Given the description of an element on the screen output the (x, y) to click on. 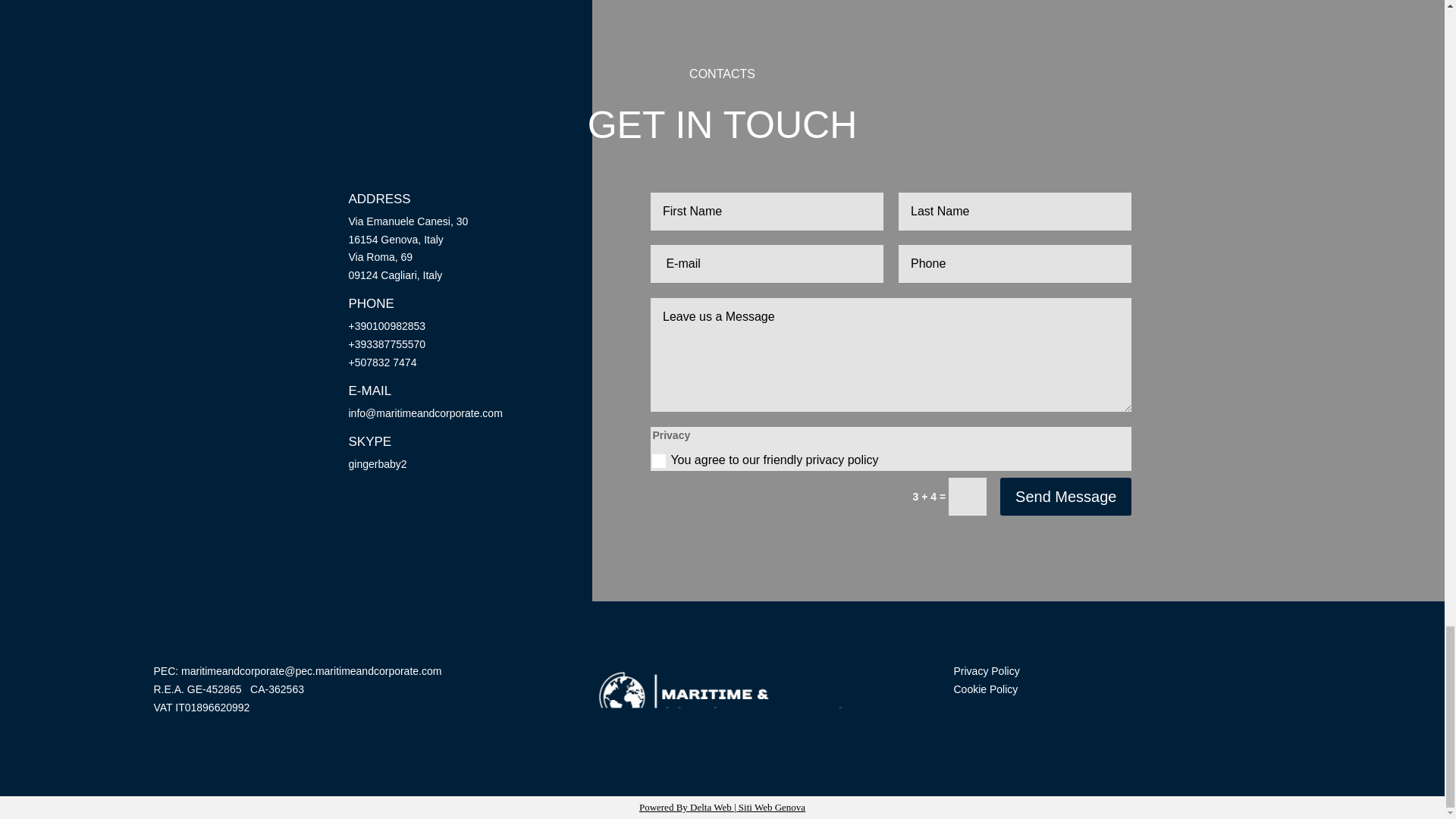
maritime-and-corporate-logo-white (721, 698)
Privacy Policy (986, 671)
Cookie Policy (985, 689)
Send Message (1065, 496)
